Given the description of an element on the screen output the (x, y) to click on. 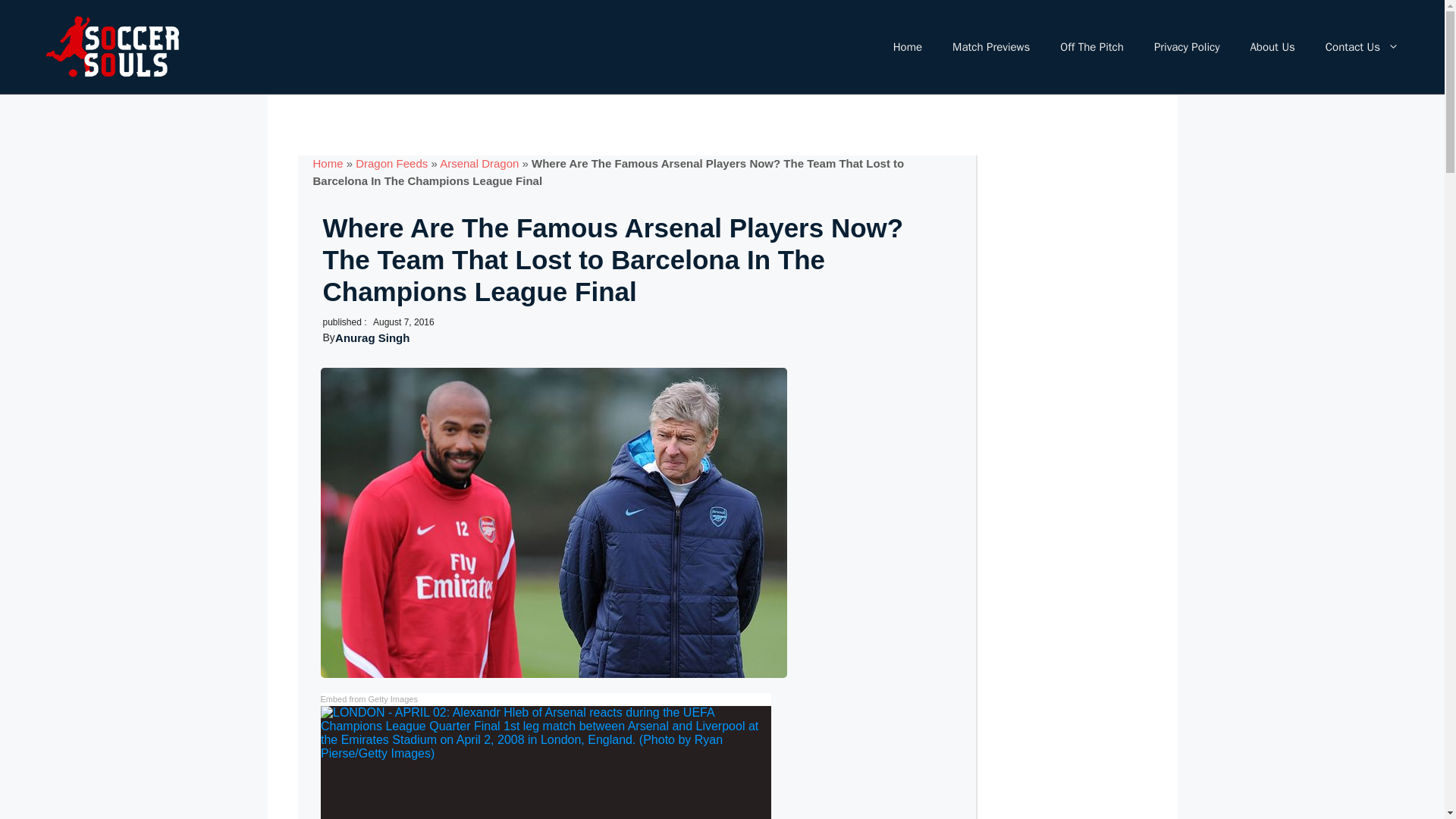
Privacy Policy (1186, 46)
Home (327, 163)
About Us (1271, 46)
Home (907, 46)
Contact Us (1361, 46)
Dragon Feeds (391, 163)
Anurag Singh (371, 337)
Arsenal Dragon (478, 163)
Match Previews (991, 46)
Off The Pitch (1091, 46)
Embed from Getty Images (368, 698)
